Given the description of an element on the screen output the (x, y) to click on. 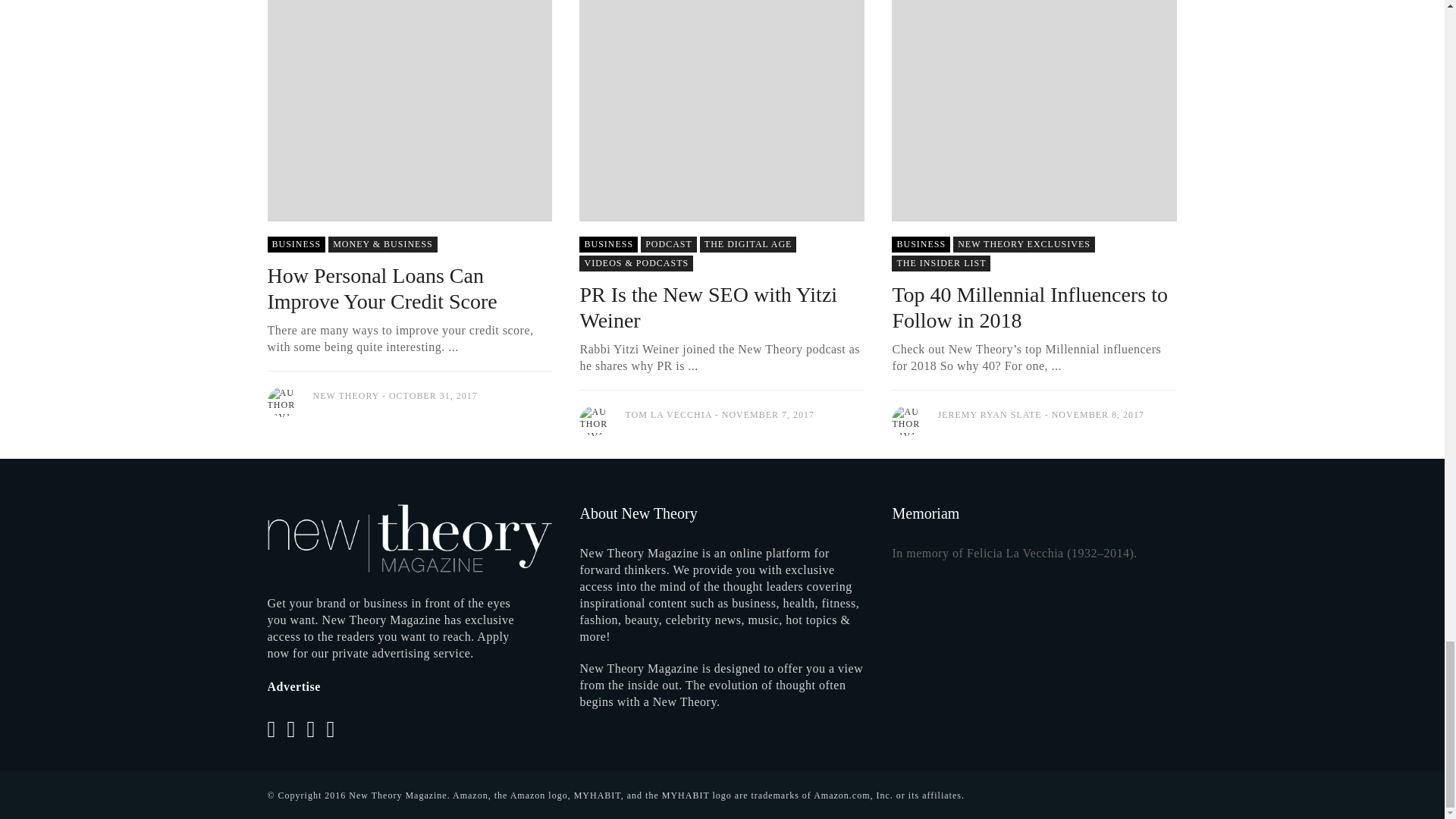
View all posts in 152 (748, 244)
View all posts in 923 (1023, 244)
View all posts in 3847 (668, 244)
View all posts in 144 (383, 244)
View all posts in 3845 (920, 244)
View all posts in 3845 (608, 244)
View all posts in 3845 (295, 244)
View all posts in 3034 (940, 263)
View all posts in 922 (636, 263)
